Given the description of an element on the screen output the (x, y) to click on. 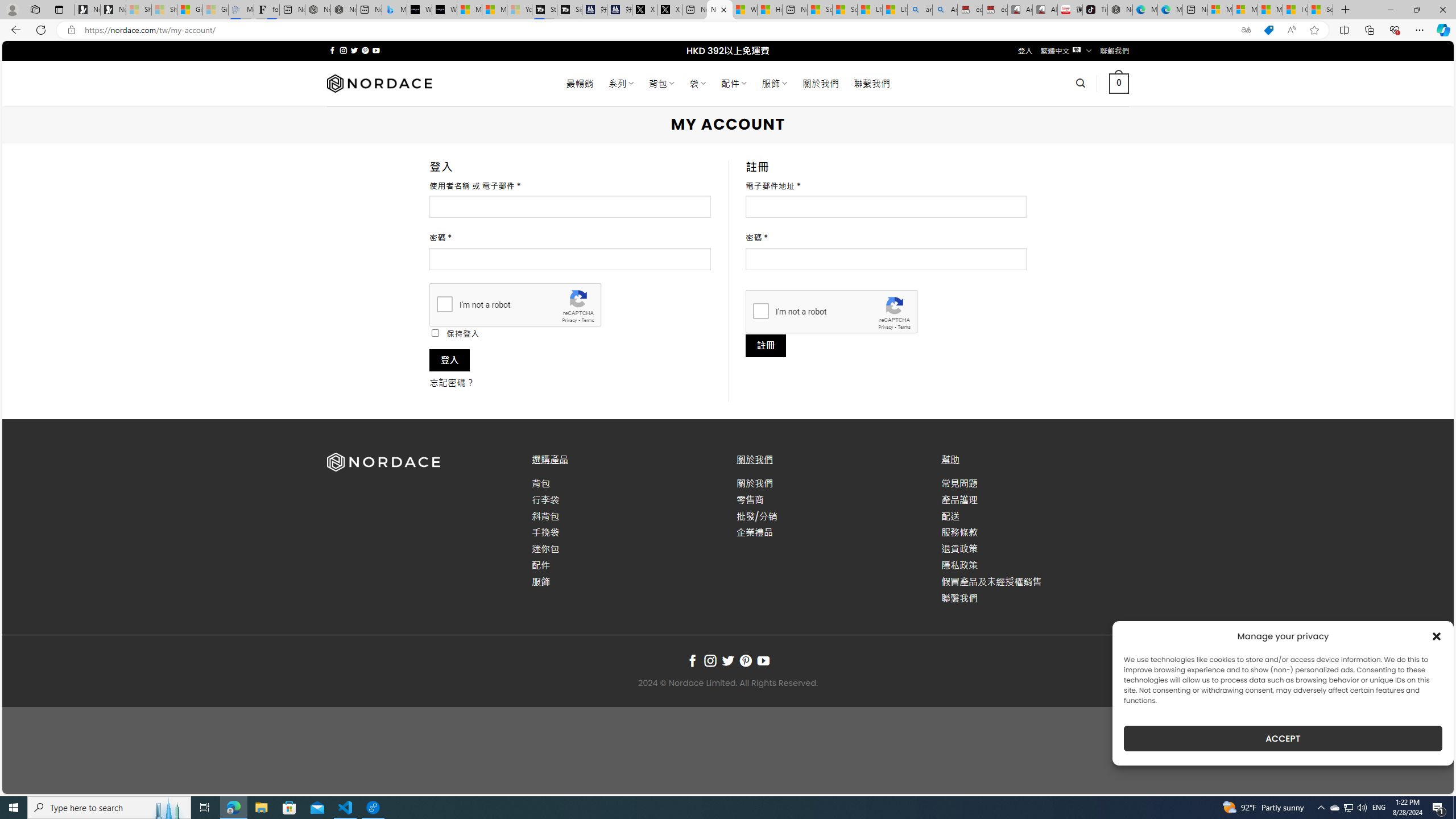
Follow on Twitter (727, 660)
